Given the description of an element on the screen output the (x, y) to click on. 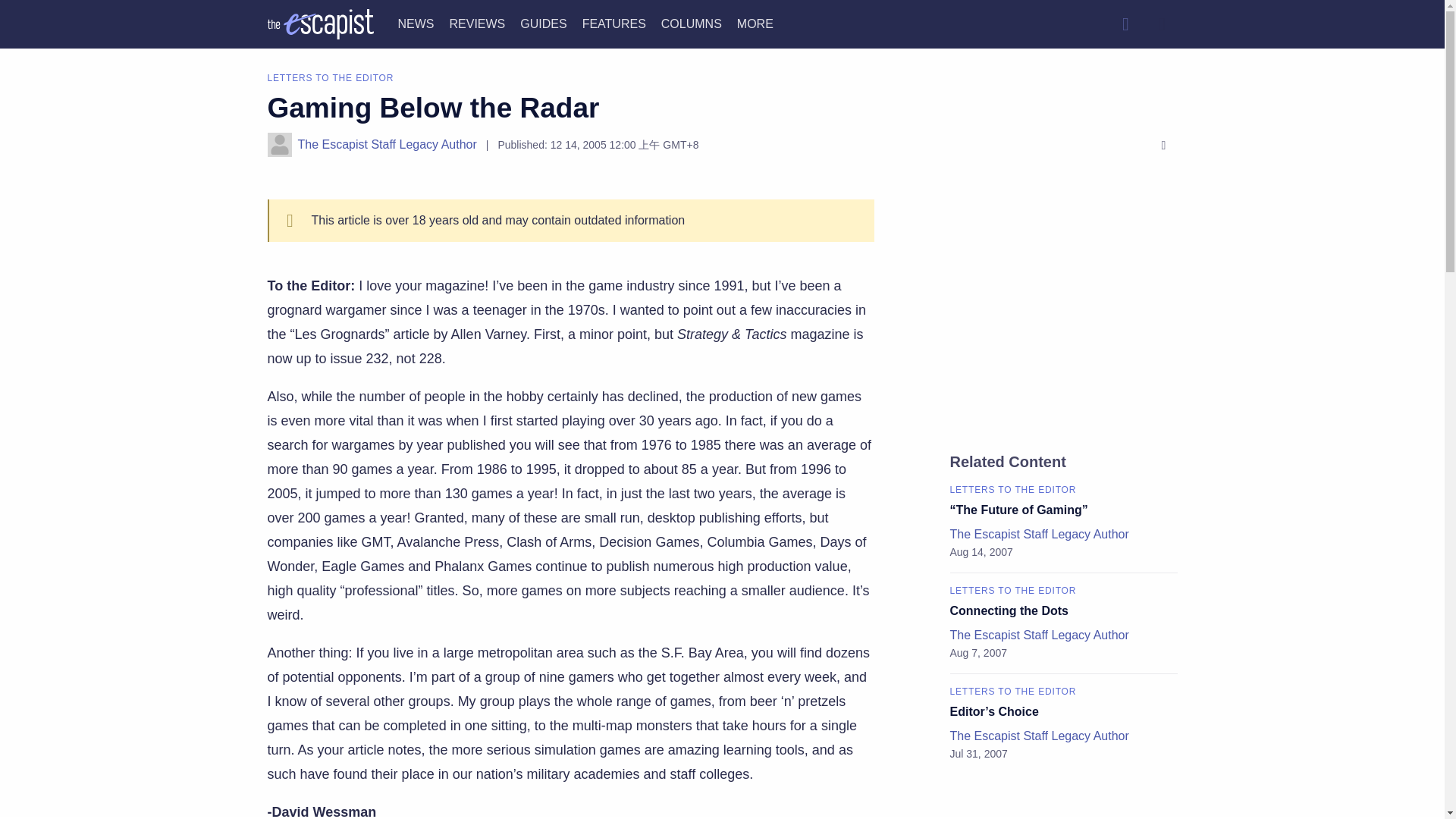
Dark Mode (1161, 24)
FEATURES (614, 23)
GUIDES (542, 23)
Search (1124, 24)
COLUMNS (691, 23)
REVIEWS (476, 23)
NEWS (415, 23)
